Given the description of an element on the screen output the (x, y) to click on. 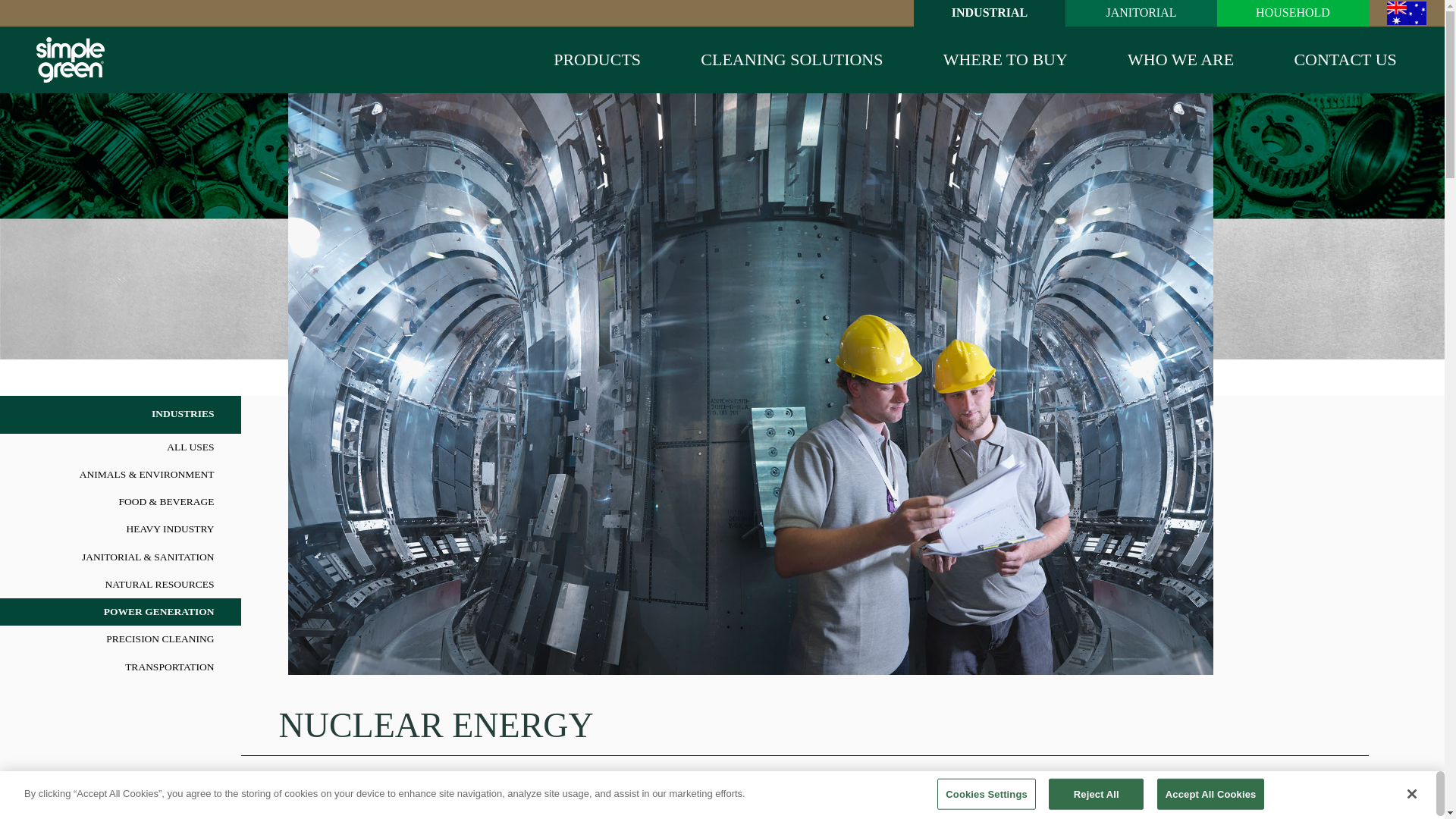
HOUSEHOLD (1292, 11)
INDUSTRIAL (989, 11)
JANITORIAL (1141, 11)
AU Flag (1406, 13)
